Given the description of an element on the screen output the (x, y) to click on. 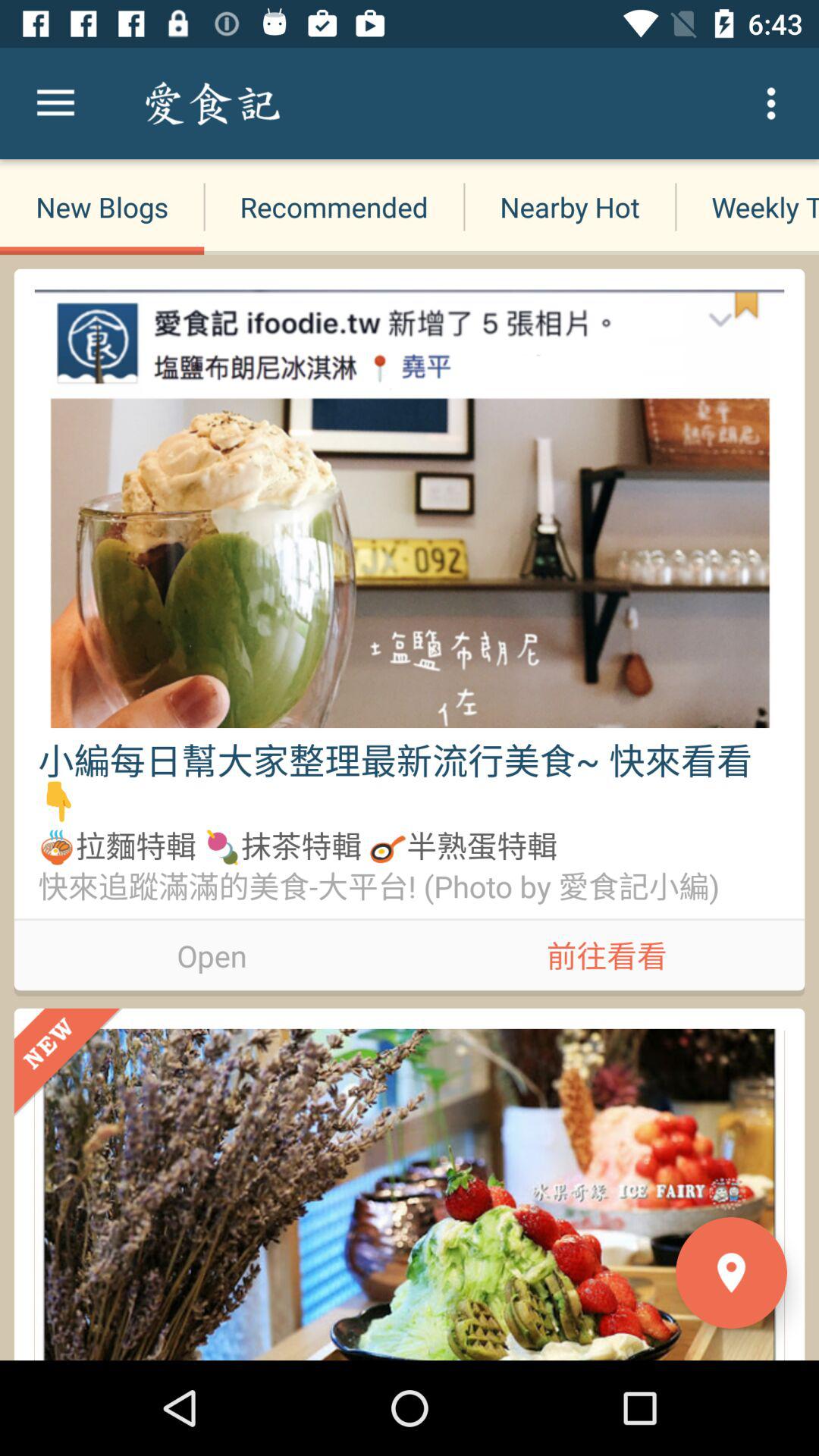
open item to the right of open item (606, 952)
